Given the description of an element on the screen output the (x, y) to click on. 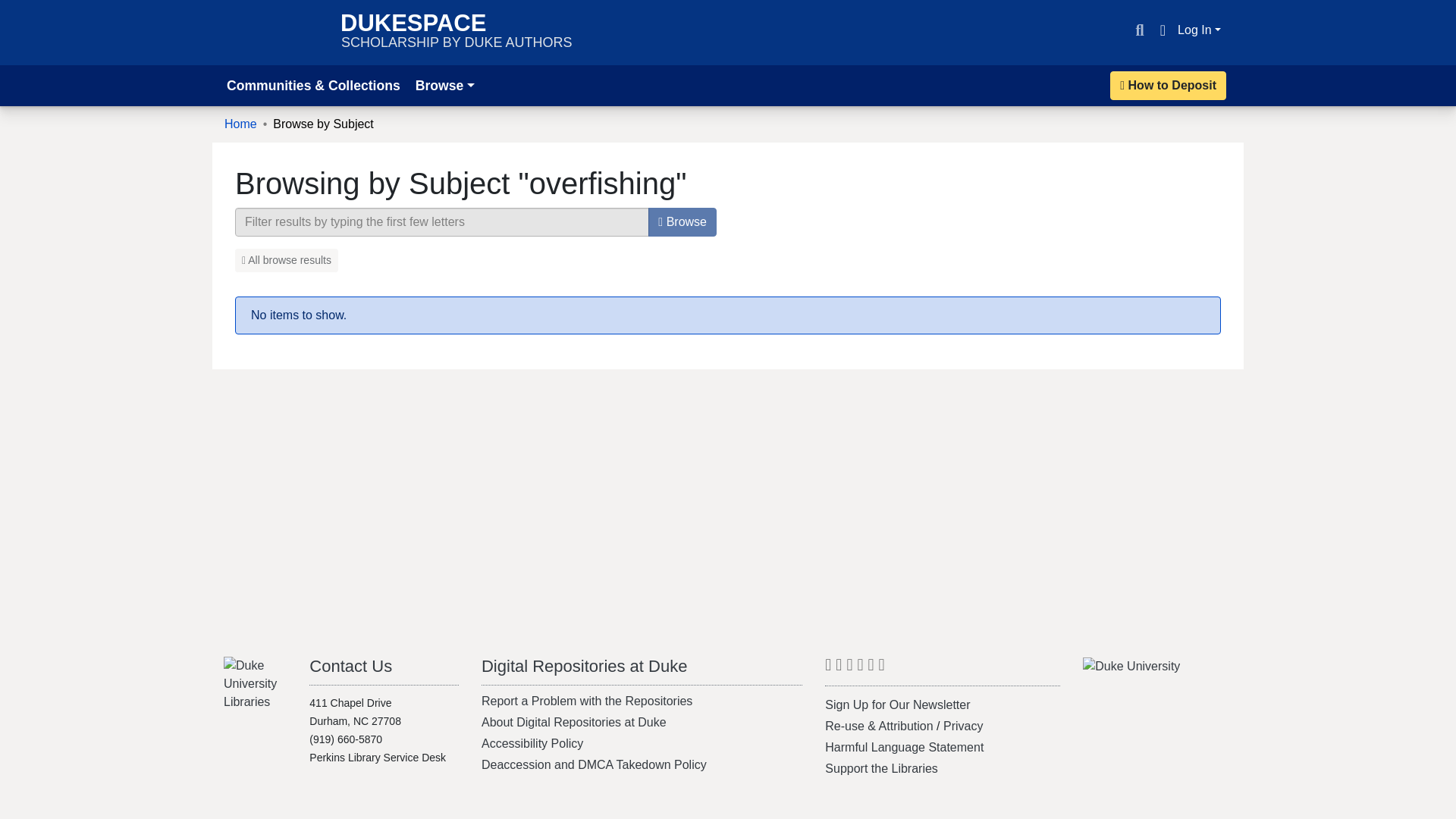
Blogs (456, 32)
Browse (882, 668)
Twitter (444, 85)
Privacy (828, 668)
Instagram (962, 725)
Sign Up for Our Newsletter (870, 668)
Instagram (897, 704)
Search (870, 668)
Contact Us (1138, 30)
Harmful Language Statement (349, 665)
Log In (904, 747)
Facebook (1199, 29)
Support the Libraries (838, 668)
YouTube (881, 768)
